Given the description of an element on the screen output the (x, y) to click on. 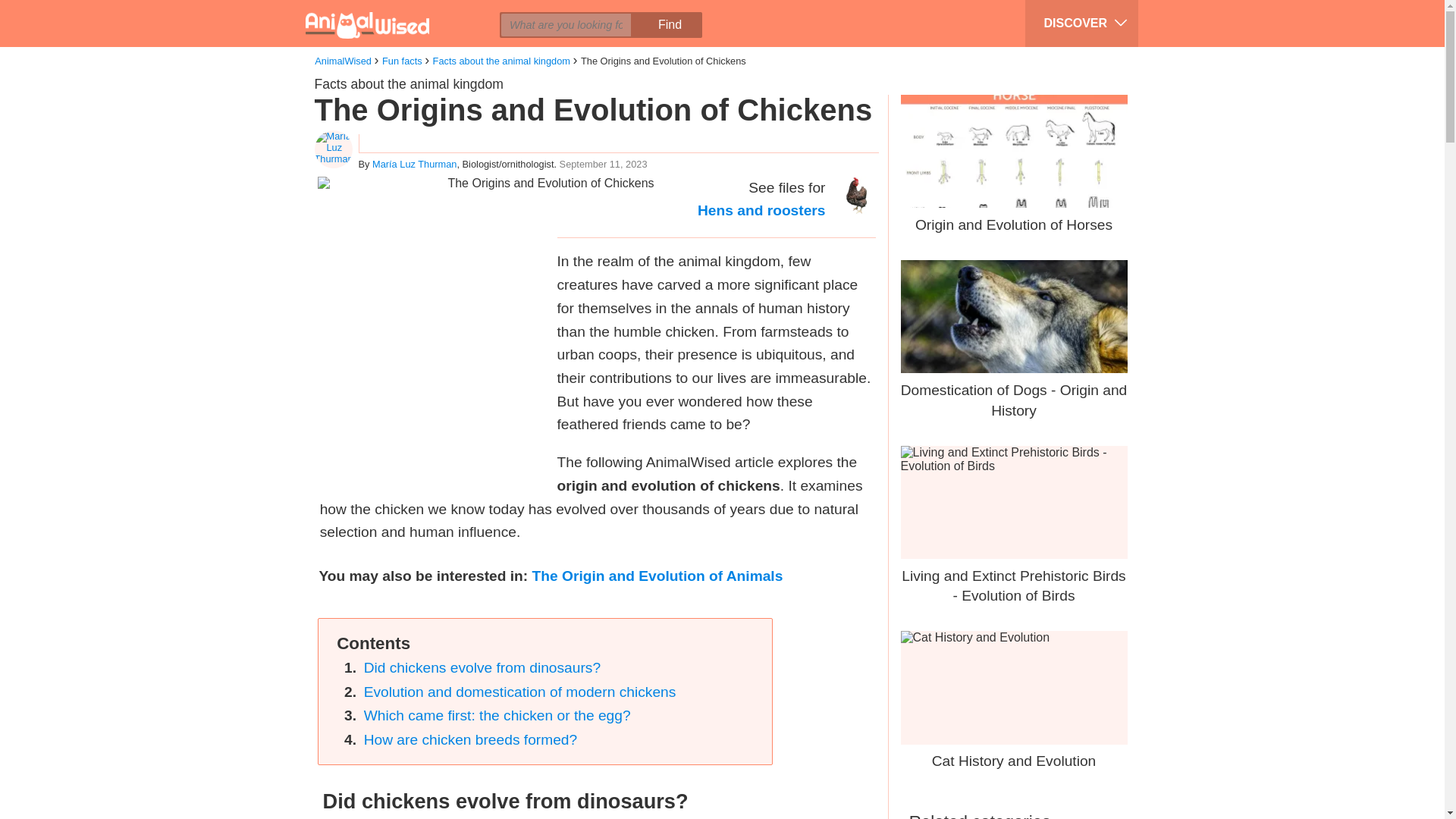
facebook (370, 12)
Fun facts (401, 60)
Facts about the animal kingdom (408, 83)
Find (668, 24)
AnimalWised (342, 60)
pinterest (427, 12)
Did chickens evolve from dinosaurs? (481, 667)
How are chicken breeds formed? (471, 739)
Evolution and domestication of modern chickens (520, 691)
The Origin and Evolution of Animals (657, 575)
imprimir (485, 12)
descargar (514, 12)
Facts about the animal kingdom (501, 60)
Which came first: the chicken or the egg? (497, 715)
whatsapp (456, 12)
